Given the description of an element on the screen output the (x, y) to click on. 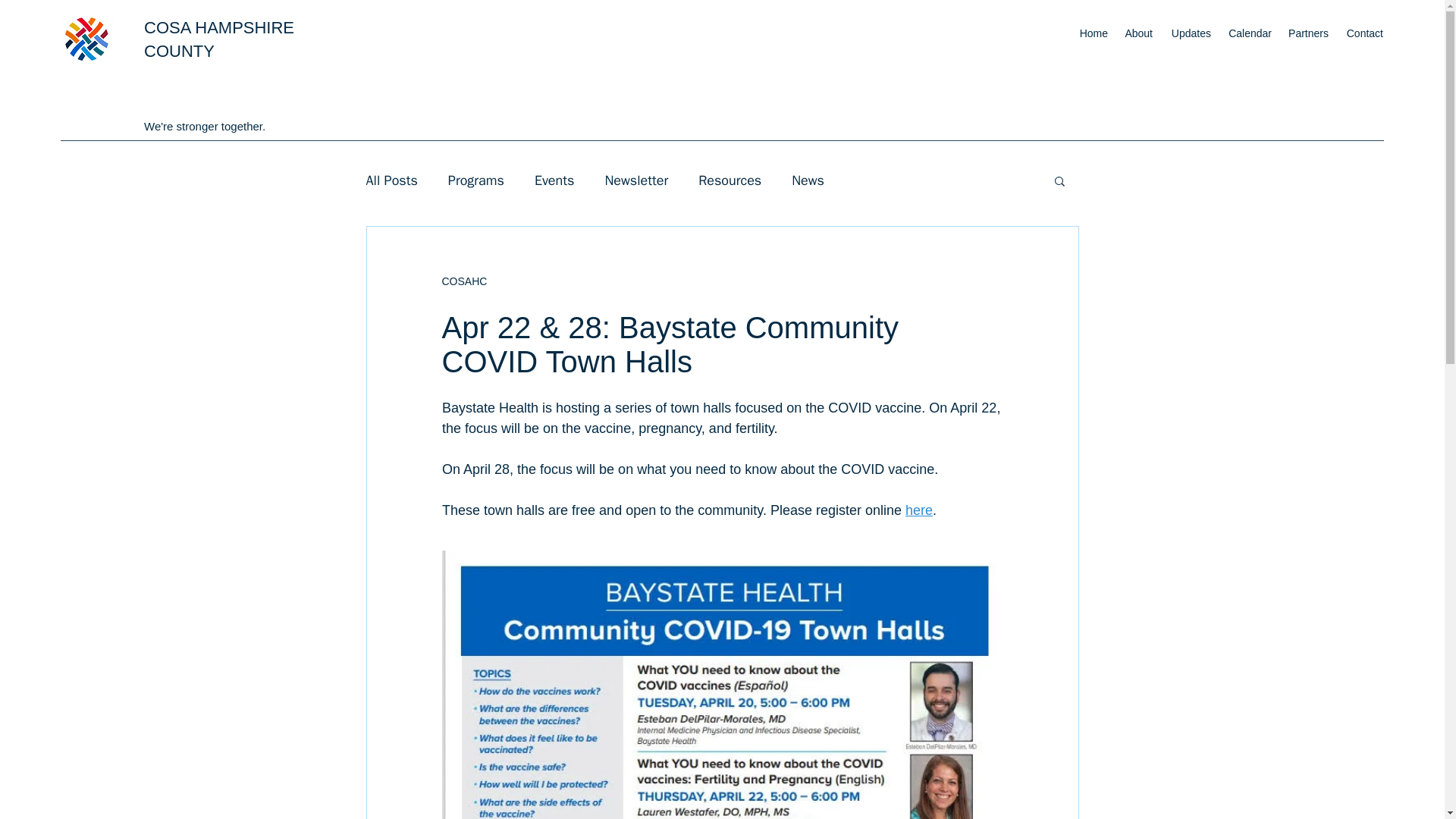
Newsletter (636, 180)
COSAHC (463, 281)
Resources (729, 180)
here (919, 509)
Programs (475, 180)
COSAHC (463, 281)
Contact (1363, 33)
Calendar (1248, 33)
Events (554, 180)
Home (1092, 33)
All Posts (390, 180)
Partners (1307, 33)
About (1137, 33)
COSA HAMPSHIRE COUNTY (219, 39)
Updates (1189, 33)
